Given the description of an element on the screen output the (x, y) to click on. 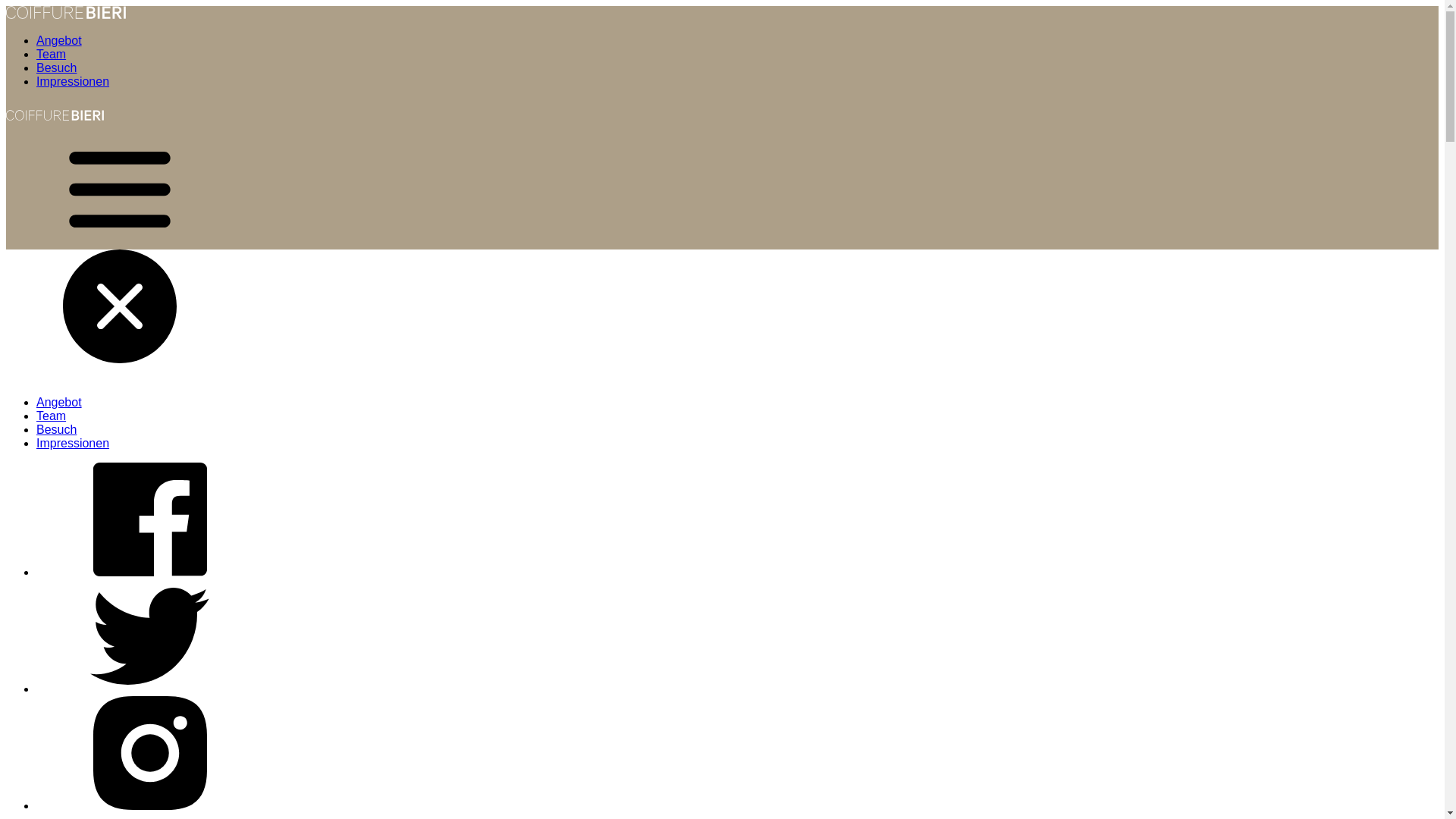
Coiffure Bieri Element type: hover (54, 125)
Team Element type: text (50, 415)
Angebot Element type: text (58, 401)
Impressionen Element type: text (72, 81)
Besuch Element type: text (56, 429)
Team Element type: text (50, 53)
Coiffure Bieri Element type: hover (65, 14)
Impressionen Element type: text (72, 442)
Besuch Element type: text (56, 67)
Angebot Element type: text (58, 40)
